Given the description of an element on the screen output the (x, y) to click on. 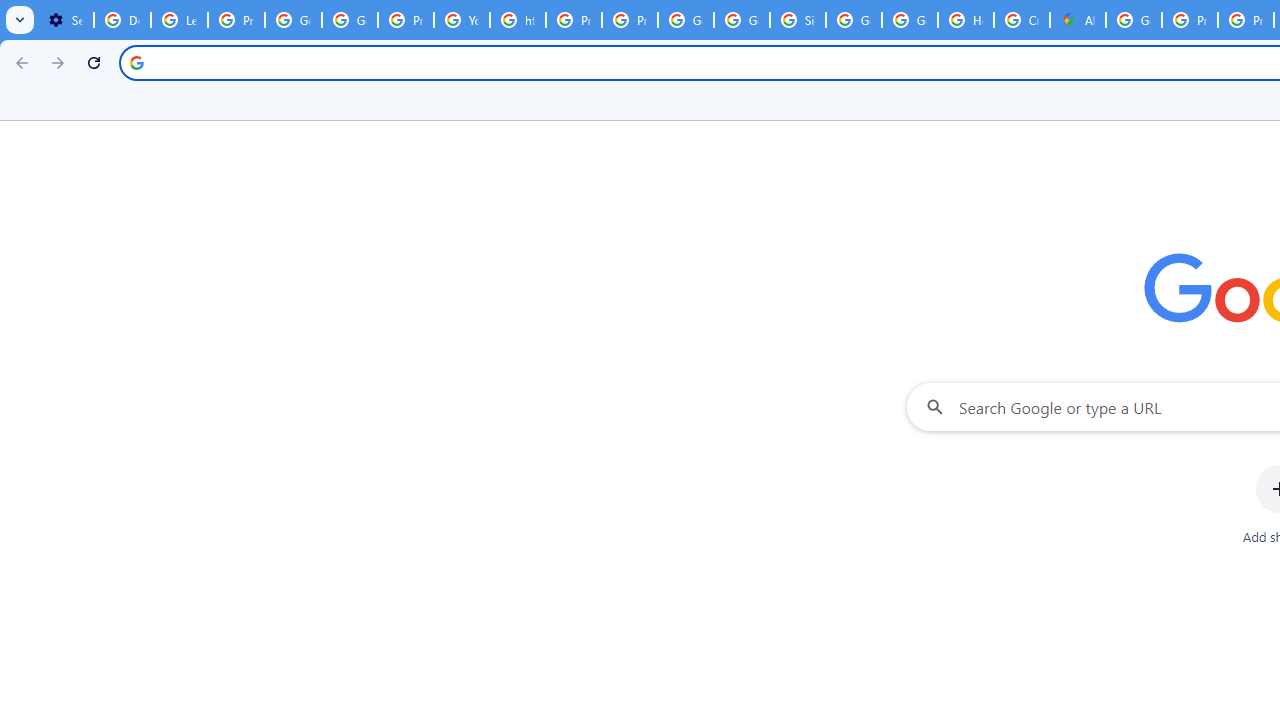
Privacy Help Center - Policies Help (573, 20)
Privacy Help Center - Policies Help (1190, 20)
Settings - On startup (65, 20)
Google Account Help (293, 20)
YouTube (461, 20)
Create your Google Account (1021, 20)
